Given the description of an element on the screen output the (x, y) to click on. 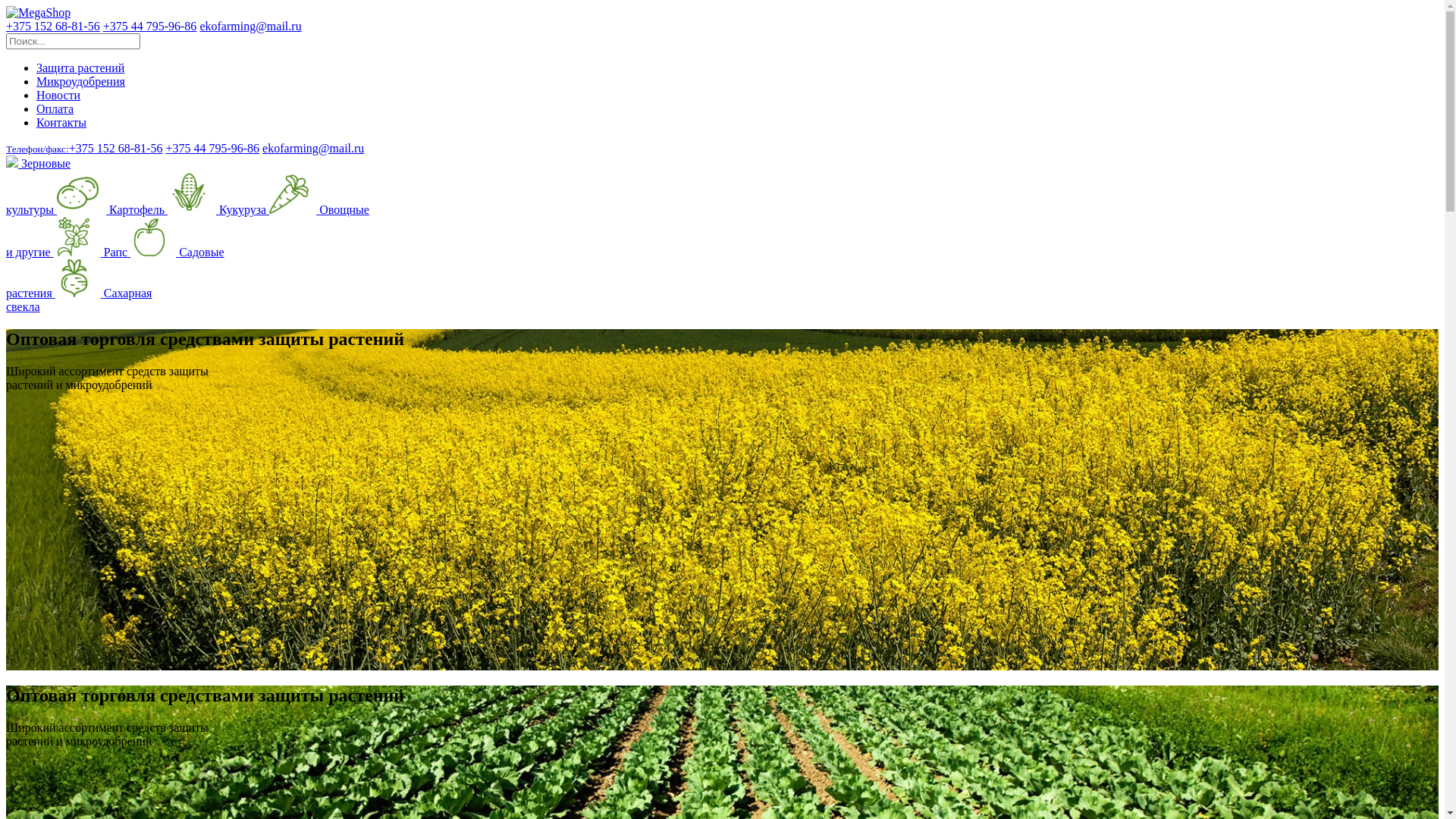
ekofarming@mail.ru Element type: text (250, 25)
ekofarming@mail.ru Element type: text (313, 147)
+375 152 68-81-56 Element type: text (53, 25)
+375 44 795-96-86 Element type: text (150, 25)
+375 44 795-96-86 Element type: text (212, 147)
